Given the description of an element on the screen output the (x, y) to click on. 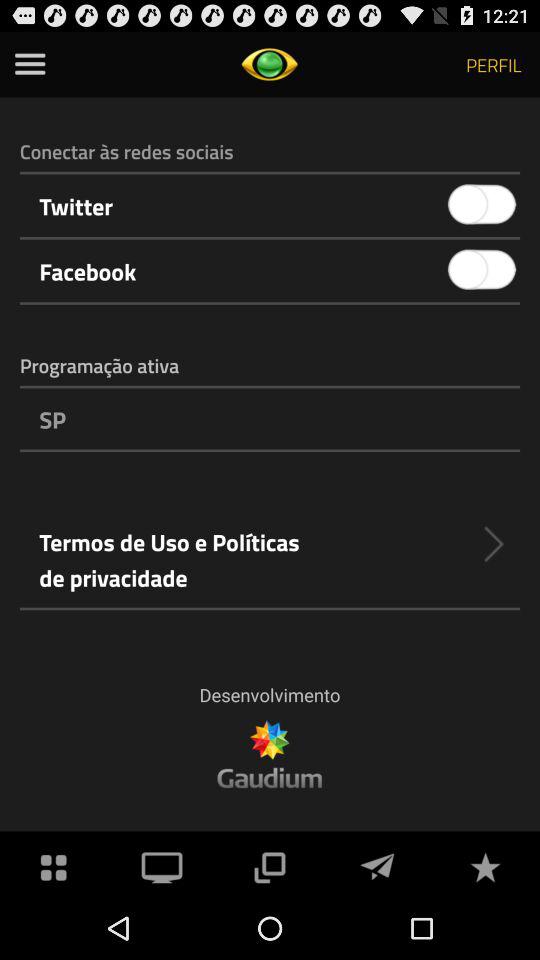
turn off app below the desenvolvimento item (162, 864)
